Given the description of an element on the screen output the (x, y) to click on. 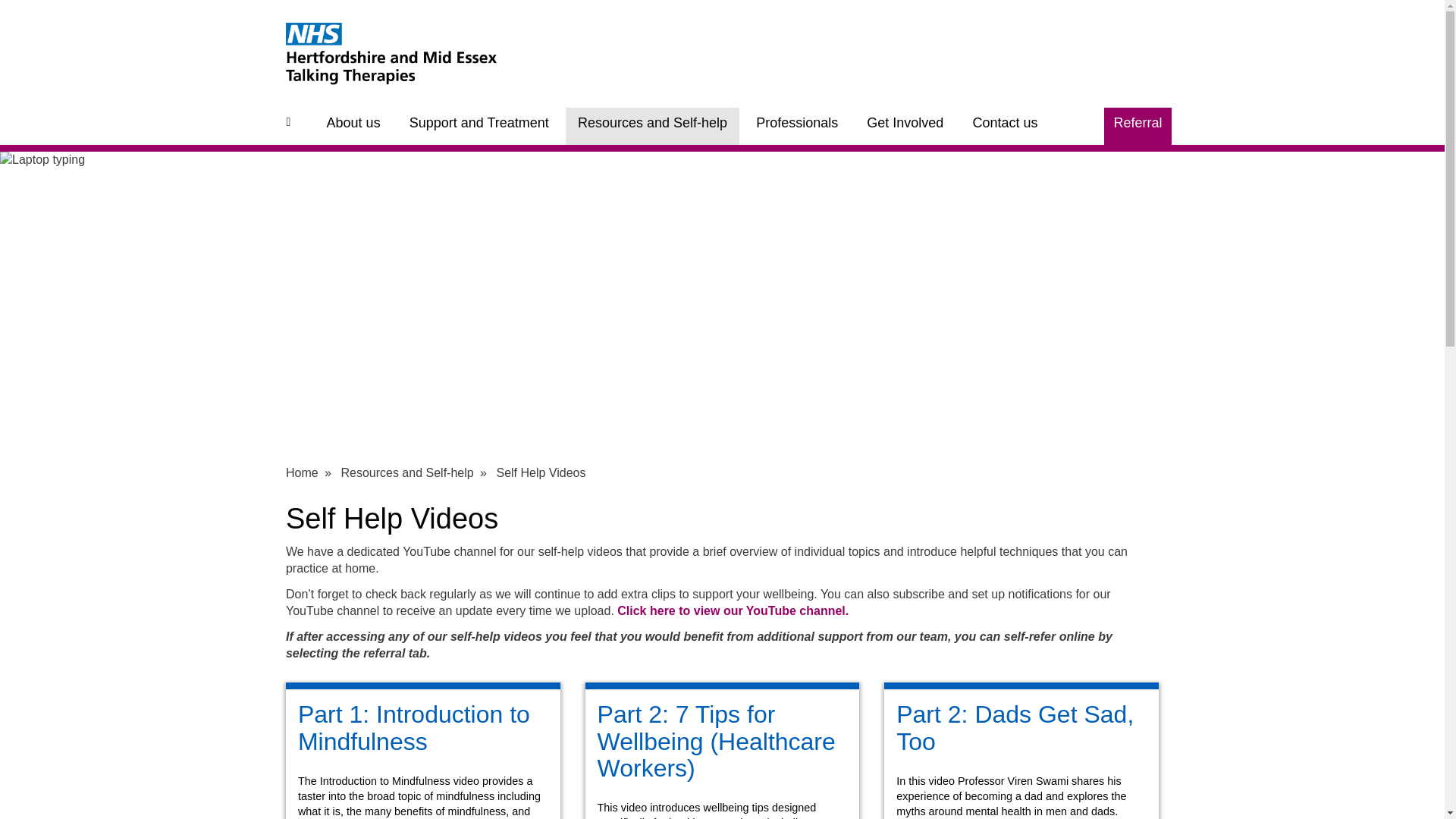
Referral (1136, 125)
Get Involved (904, 125)
Resources and Self-help (652, 125)
Resources and Self-help (406, 472)
Support and Treatment (478, 125)
Professionals (797, 125)
Home (290, 125)
Home (301, 472)
Contact us (1004, 125)
About us (353, 125)
Click here to view our YouTube channel. (732, 610)
